Given the description of an element on the screen output the (x, y) to click on. 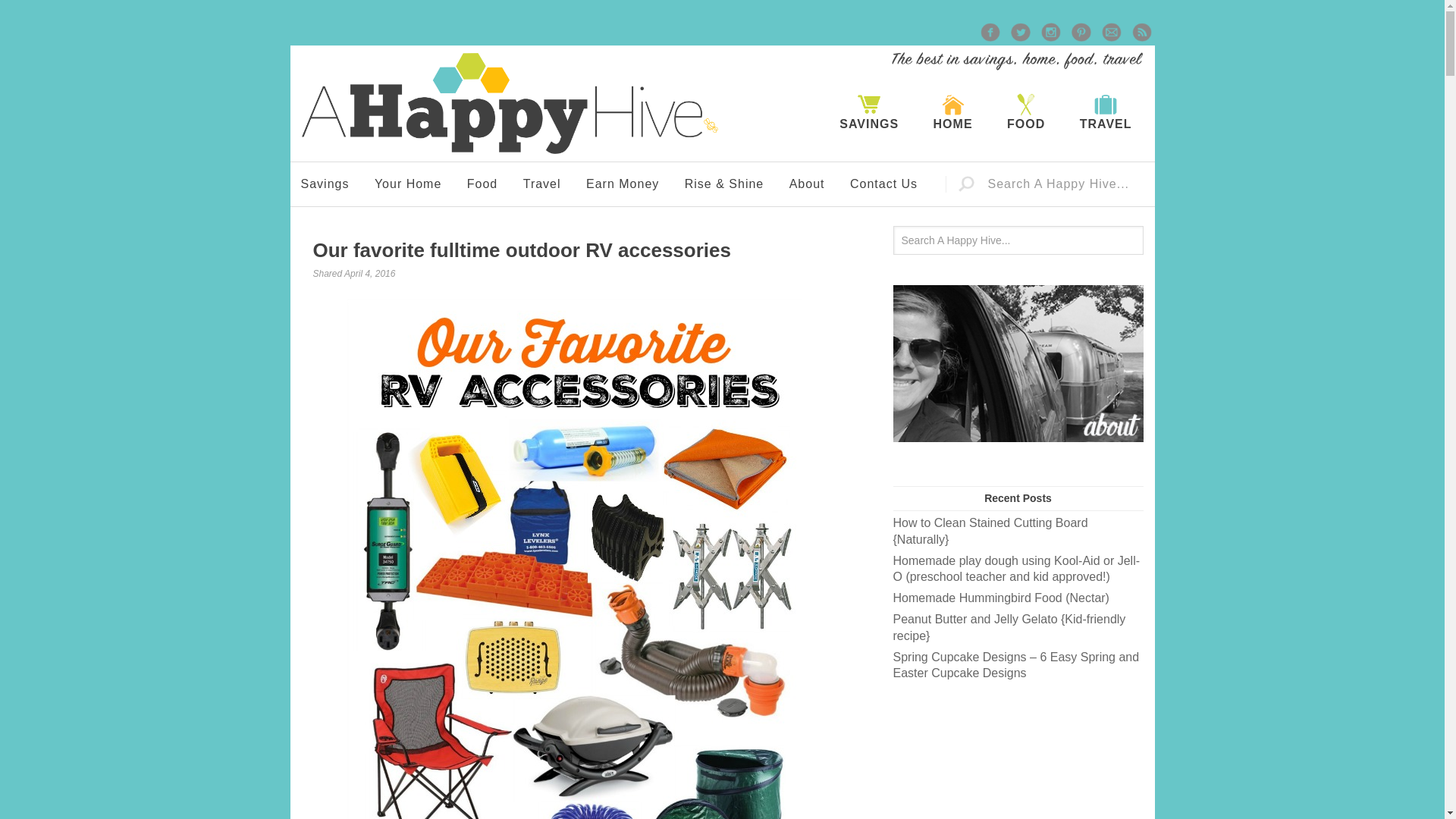
FOOD (1025, 112)
Savings (324, 184)
Food (482, 184)
SAVINGS (869, 112)
TRAVEL (1105, 112)
About (806, 184)
Earn Money (622, 184)
HOME (953, 112)
Your Home (407, 184)
Travel (542, 184)
